Given the description of an element on the screen output the (x, y) to click on. 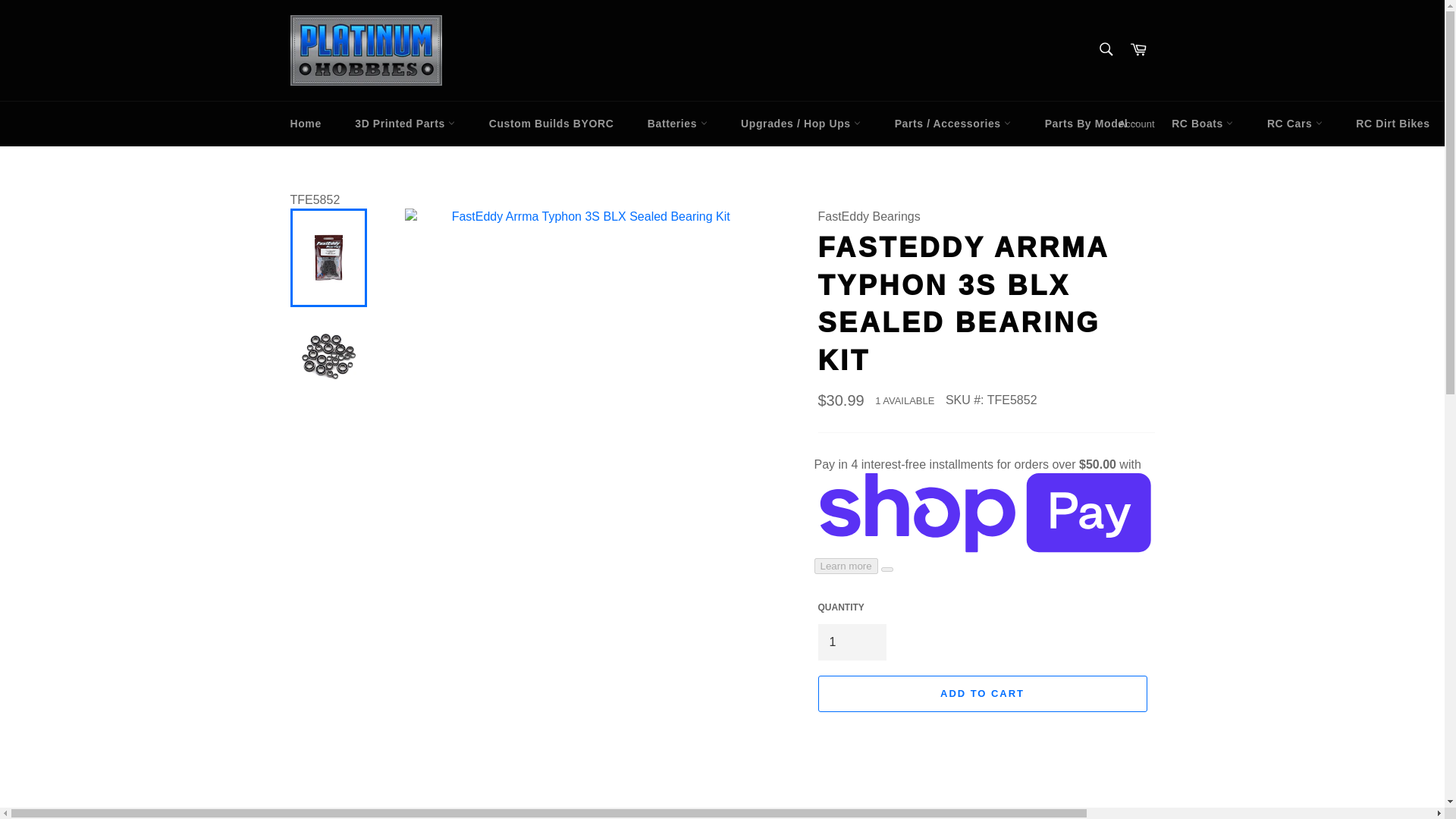
1 (850, 642)
